Given the description of an element on the screen output the (x, y) to click on. 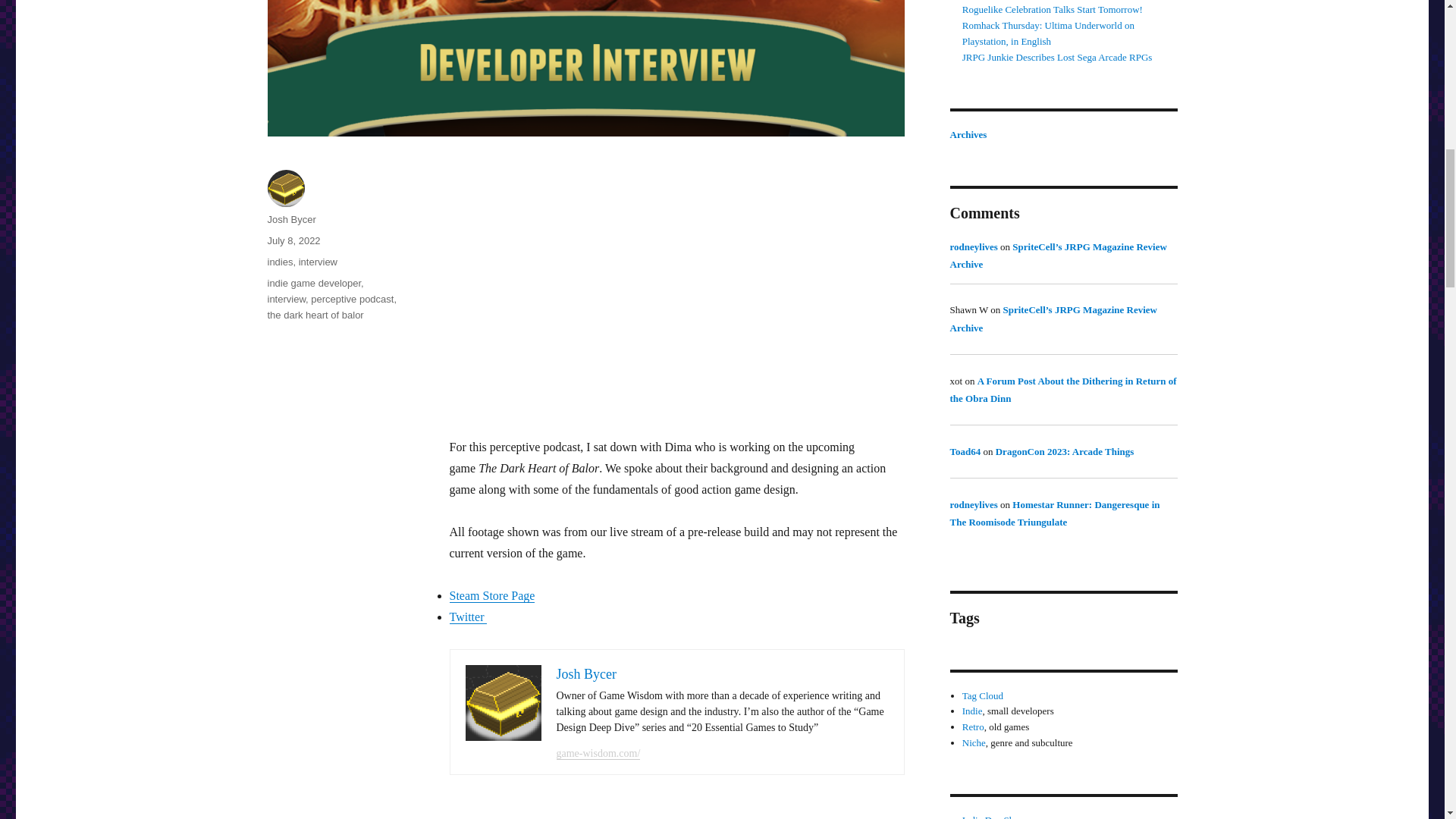
Roguelike Celebration Talks Start Tomorrow! (1052, 9)
A Forum Post About the Dithering in Return of the Obra Dinn (1062, 389)
DragonCon 2023: Arcade Things (1064, 451)
Archives (968, 134)
Toad64 (964, 451)
Twitter  (467, 616)
Homestar Runner: Dangeresque in The Roomisode Triungulate (1053, 512)
the dark heart of balor (314, 315)
July 8, 2022 (293, 240)
rodneylives (973, 504)
Josh Bycer (586, 673)
Steam Store Page (491, 594)
JRPG Junkie Describes Lost Sega Arcade RPGs (1057, 57)
perceptive podcast (352, 298)
interview (285, 298)
